Given the description of an element on the screen output the (x, y) to click on. 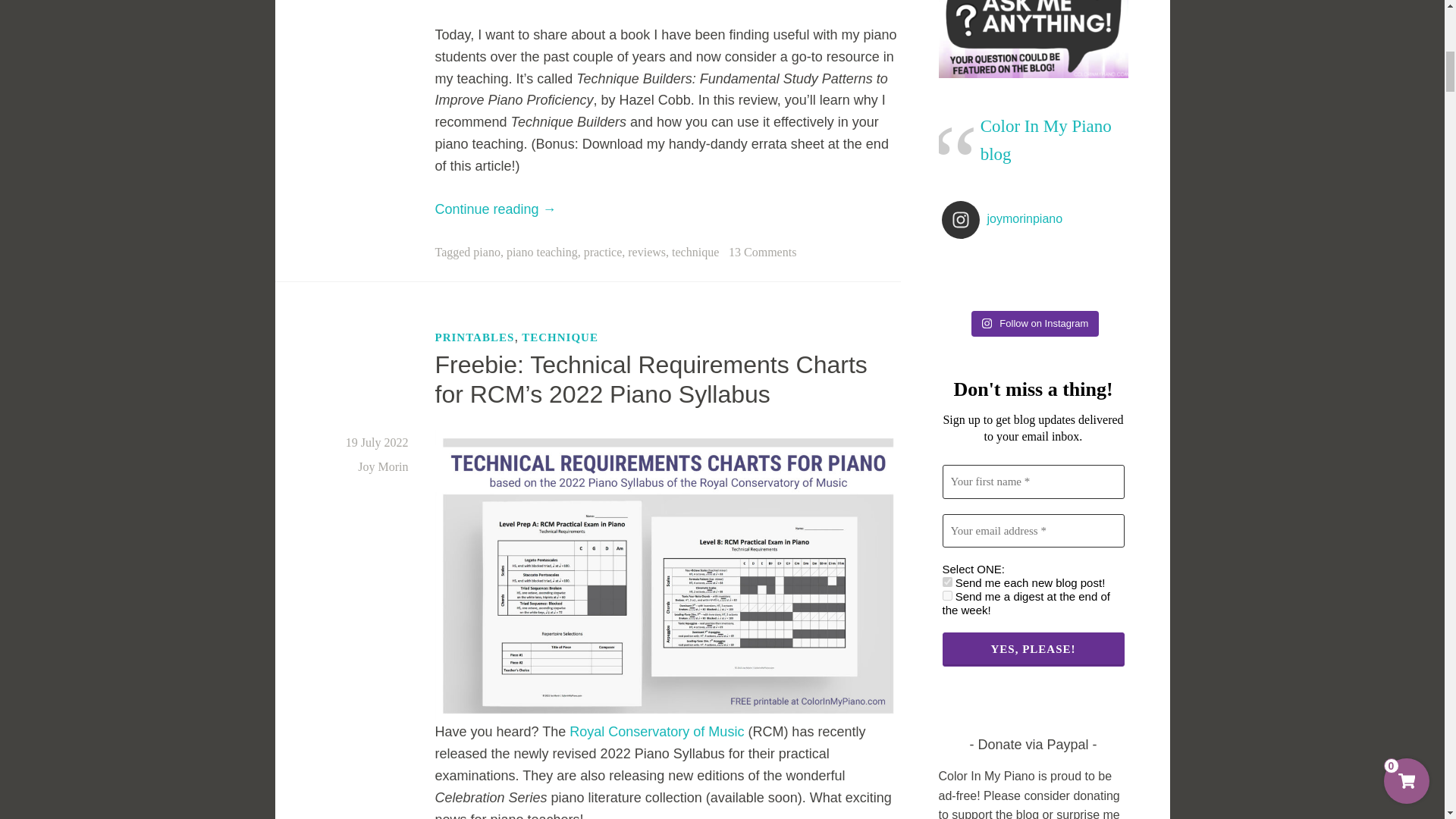
Your first name (1033, 481)
6 (947, 582)
piano (486, 251)
piano teaching (542, 251)
YES, PLEASE! (1033, 649)
Your email address (1033, 530)
PRINTABLES (475, 337)
practice (603, 251)
technique (695, 251)
reviews (646, 251)
